Given the description of an element on the screen output the (x, y) to click on. 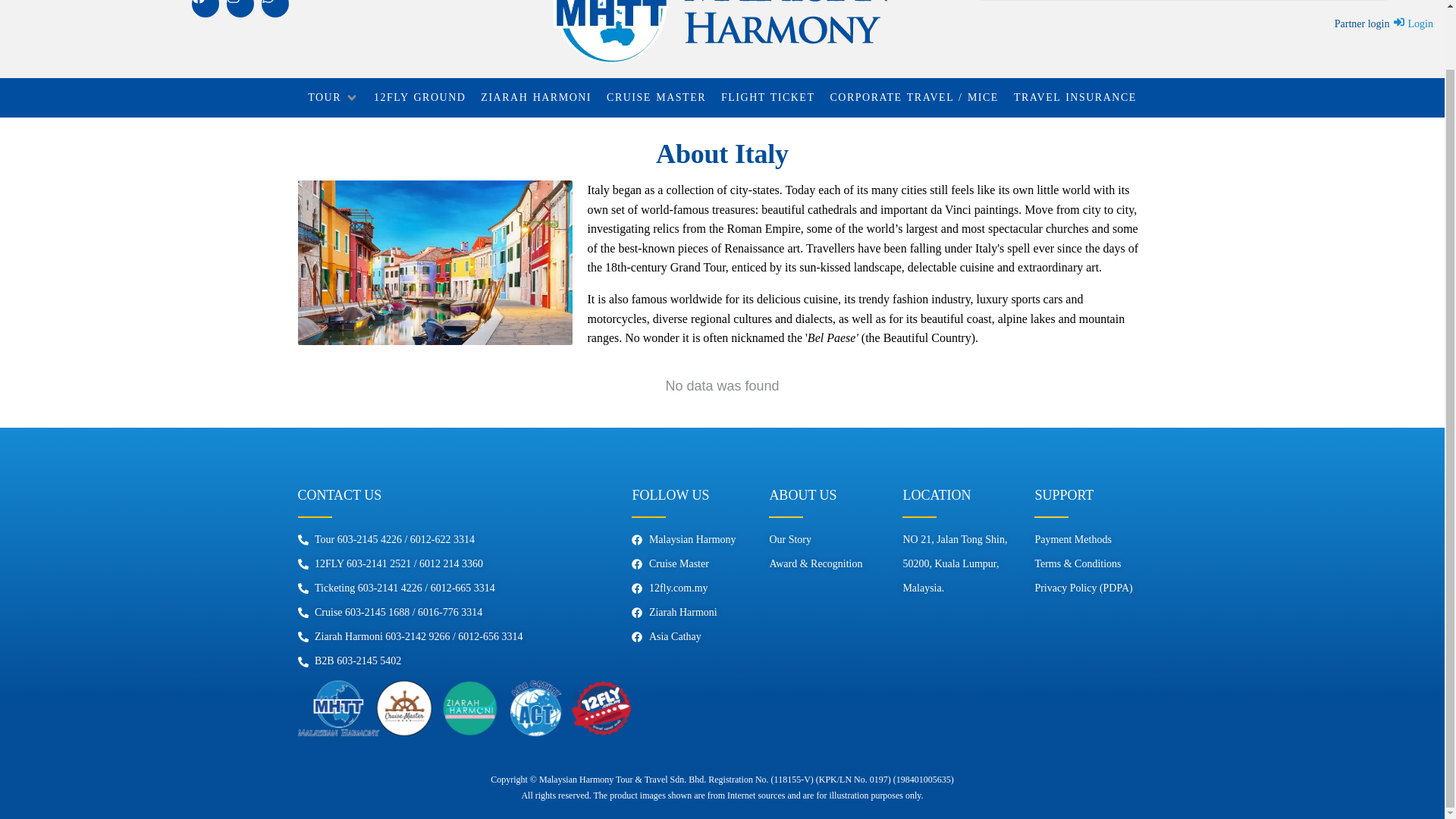
TOUR (323, 97)
21, Jalan Tong Shin, 50200, Kuala Lumpur, Malaysia (957, 681)
Login (1412, 23)
